Given the description of an element on the screen output the (x, y) to click on. 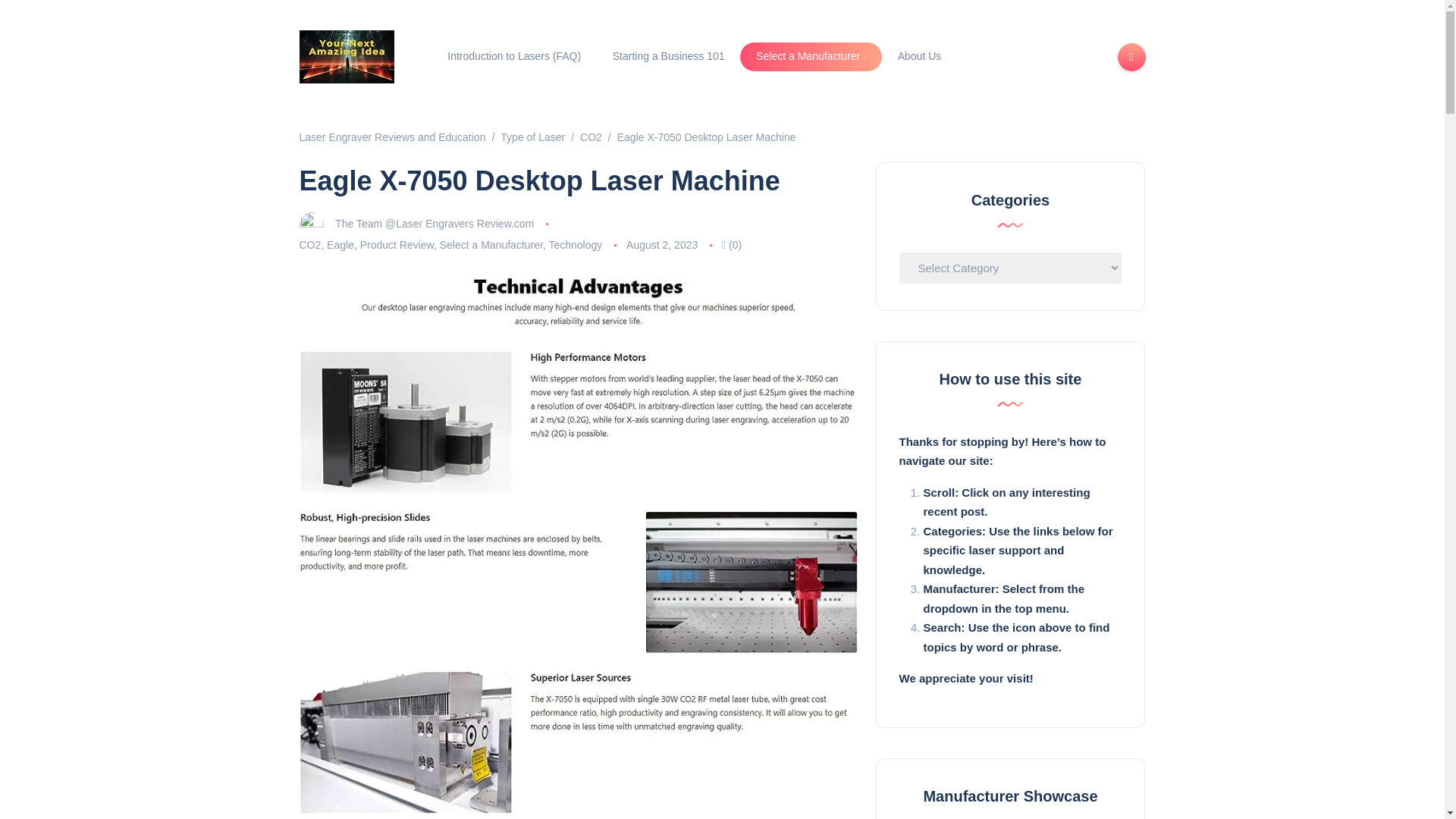
Go to the Type of Laser Category archives. (532, 137)
Go to Laser Engraver Reviews and Education. (391, 137)
Go to the CO2 Category archives. (590, 137)
